Given the description of an element on the screen output the (x, y) to click on. 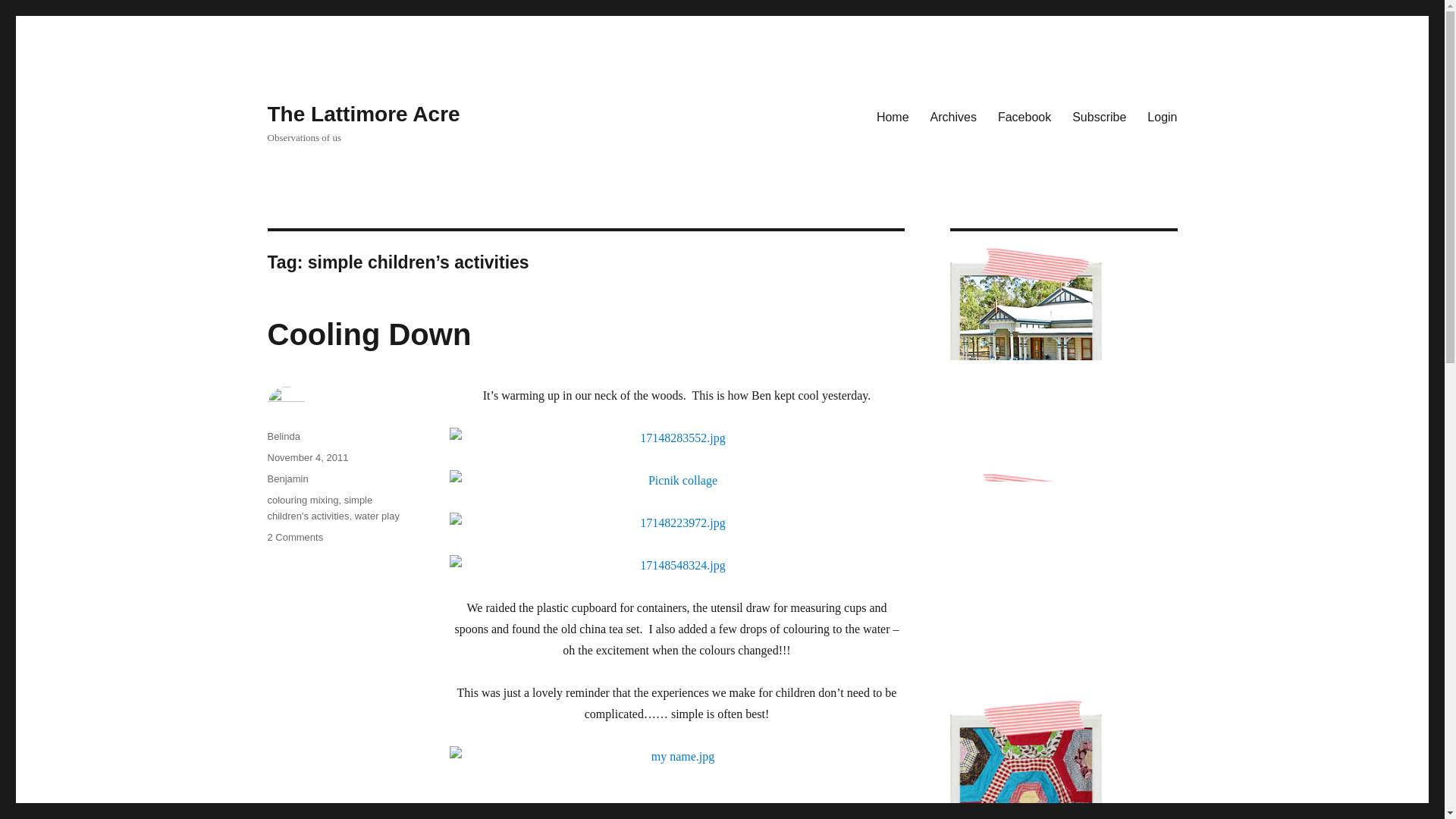
November 4, 2011 (306, 457)
Archives (953, 116)
Benjamin (286, 478)
It's Playtime at hands on : as we grow (676, 814)
Facebook (1024, 116)
colouring mixing (301, 500)
Login (1162, 116)
Cooling Down (368, 334)
The Lattimore Acre (363, 114)
Subscribe (1099, 116)
simple children's activities (294, 536)
water play (319, 507)
Belinda (376, 515)
Home (282, 436)
